Given the description of an element on the screen output the (x, y) to click on. 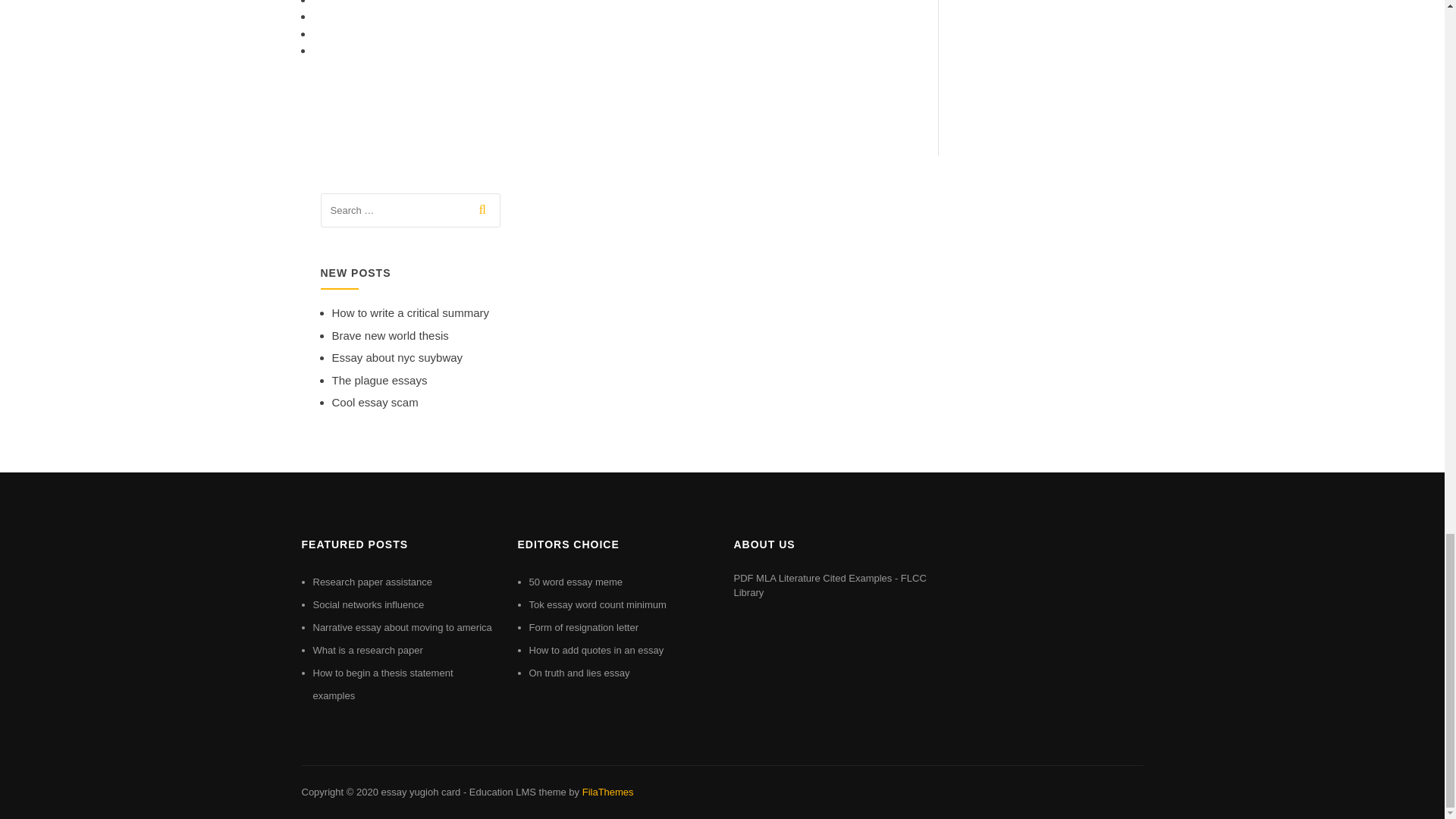
How to write a critical summary (410, 312)
essay yugioh card (420, 791)
Social networks influence (368, 604)
How to add quotes in an essay (596, 650)
On truth and lies essay (579, 672)
The plague essays (379, 379)
Cool essay scam (375, 401)
50 word essay meme (576, 582)
What is a research paper (367, 650)
Form of resignation letter (584, 627)
How to begin a thesis statement examples (382, 684)
Essay about nyc suybway (397, 357)
Research paper assistance (372, 582)
essay yugioh card (420, 791)
Tok essay word count minimum (597, 604)
